Given the description of an element on the screen output the (x, y) to click on. 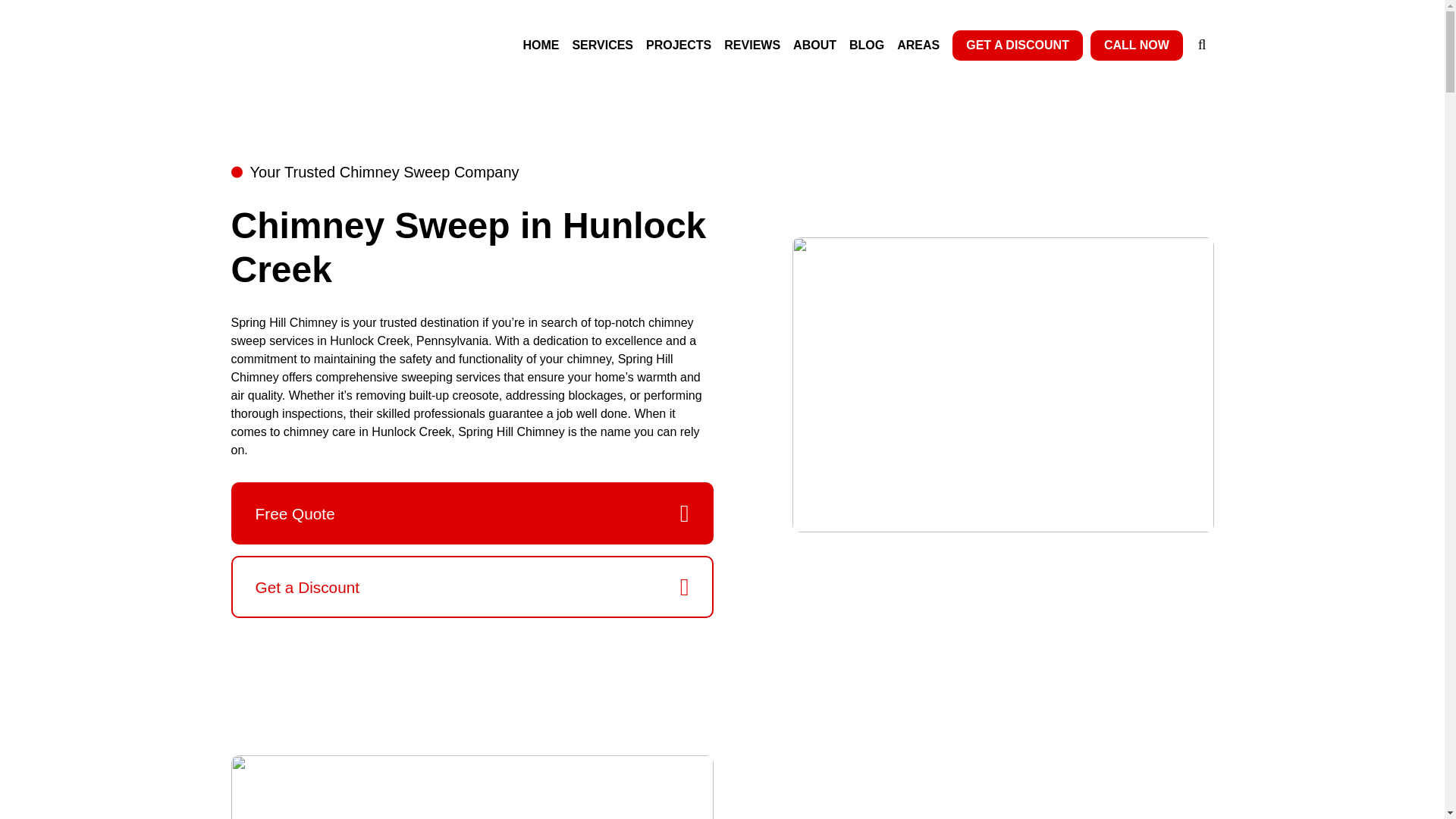
Free Quote (471, 513)
Get a Discount (471, 587)
AREAS (917, 45)
HOME (540, 45)
CALL NOW (1136, 45)
GET A DISCOUNT (1017, 45)
SERVICES (602, 45)
BLOG (865, 45)
REVIEWS (751, 45)
ABOUT (814, 45)
PROJECTS (678, 45)
